Given the description of an element on the screen output the (x, y) to click on. 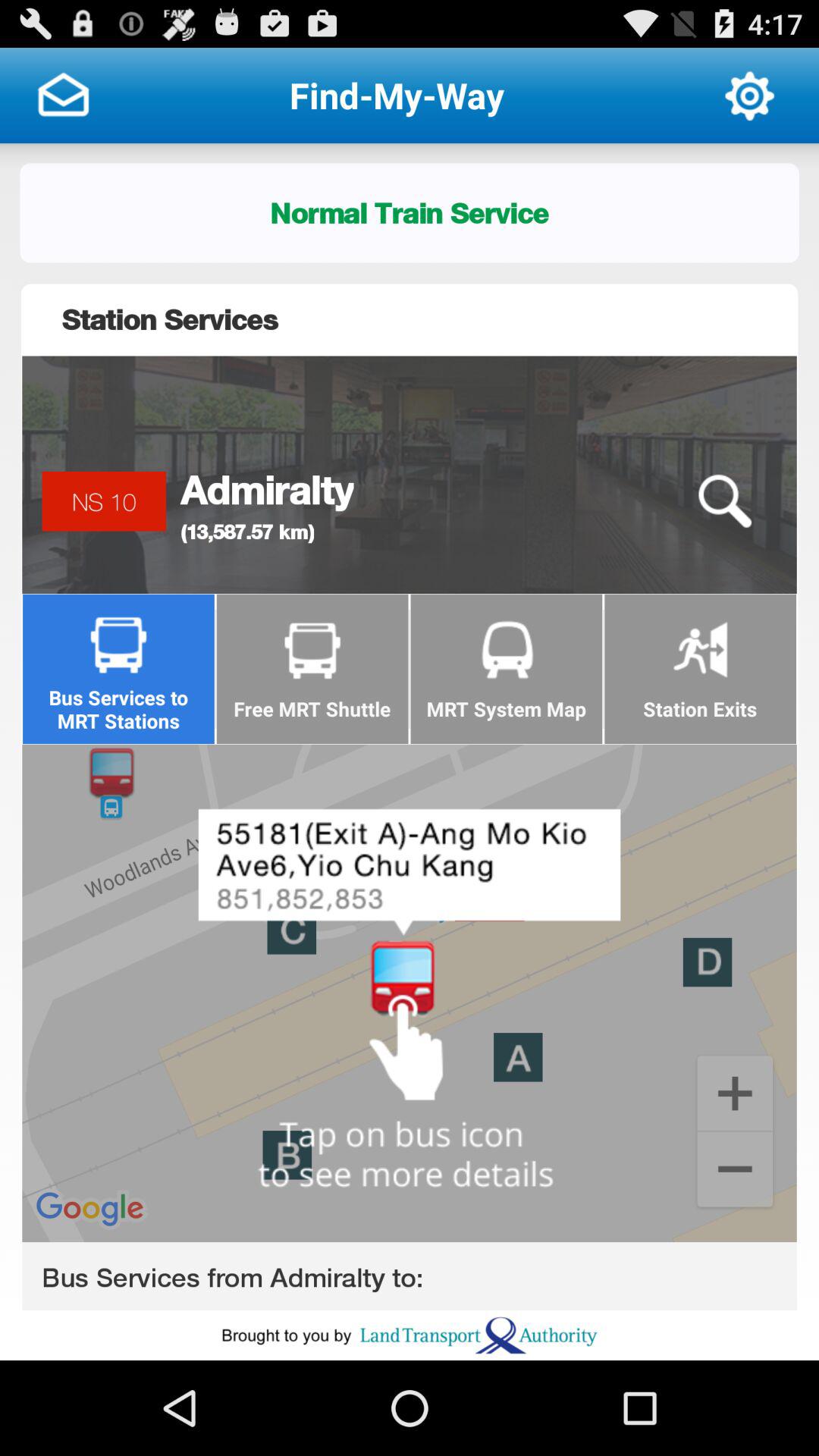
click minus for zoom in (734, 1171)
